Given the description of an element on the screen output the (x, y) to click on. 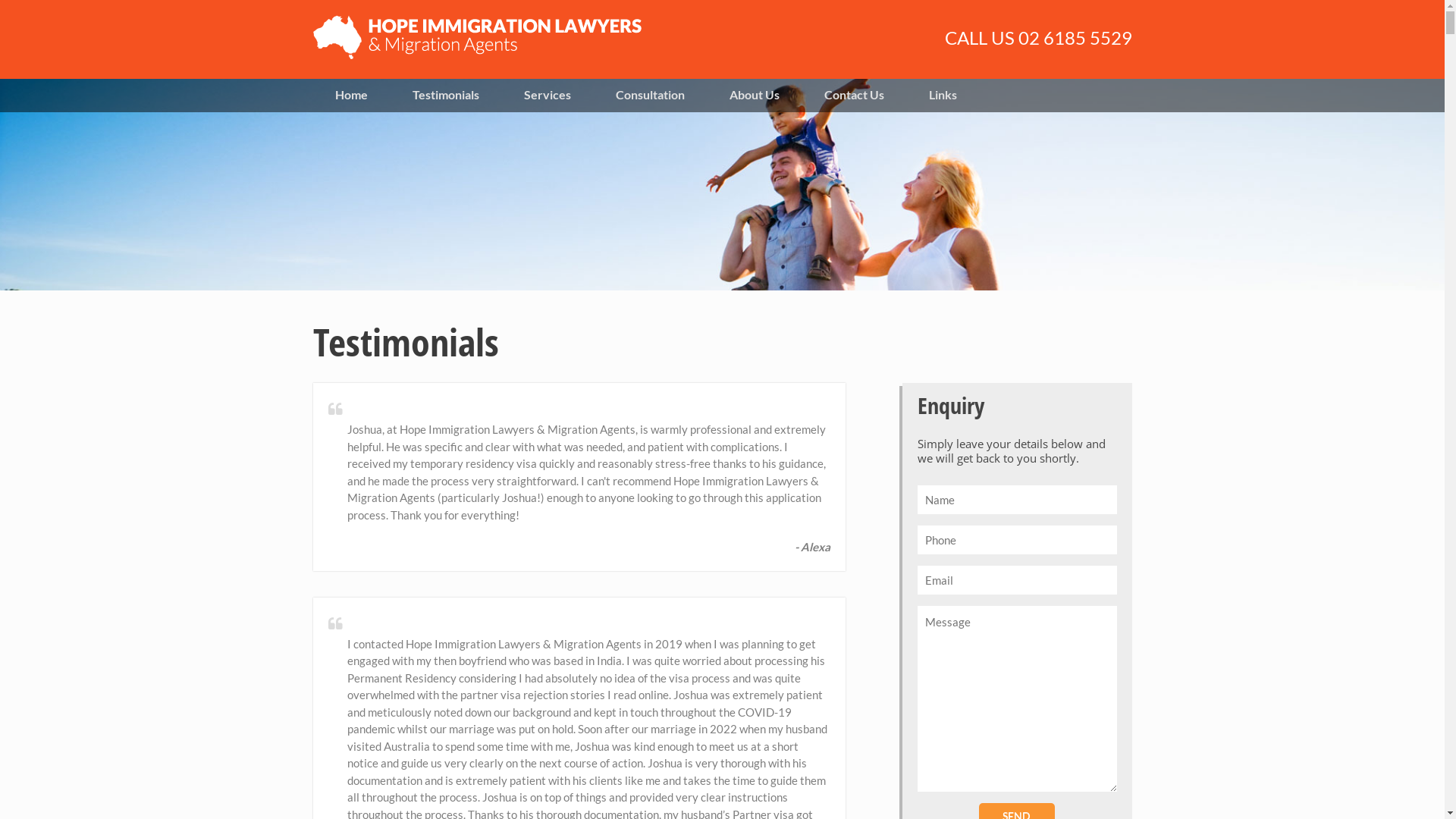
About Us Element type: text (753, 93)
Hope Immigration Lawyers & Migration Agents Sydney Element type: hover (476, 55)
Links Element type: text (942, 93)
Testimonials Element type: text (445, 93)
Contact Us Element type: text (854, 93)
Consultation Element type: text (649, 93)
Services Element type: text (547, 93)
Home Element type: text (350, 93)
